Given the description of an element on the screen output the (x, y) to click on. 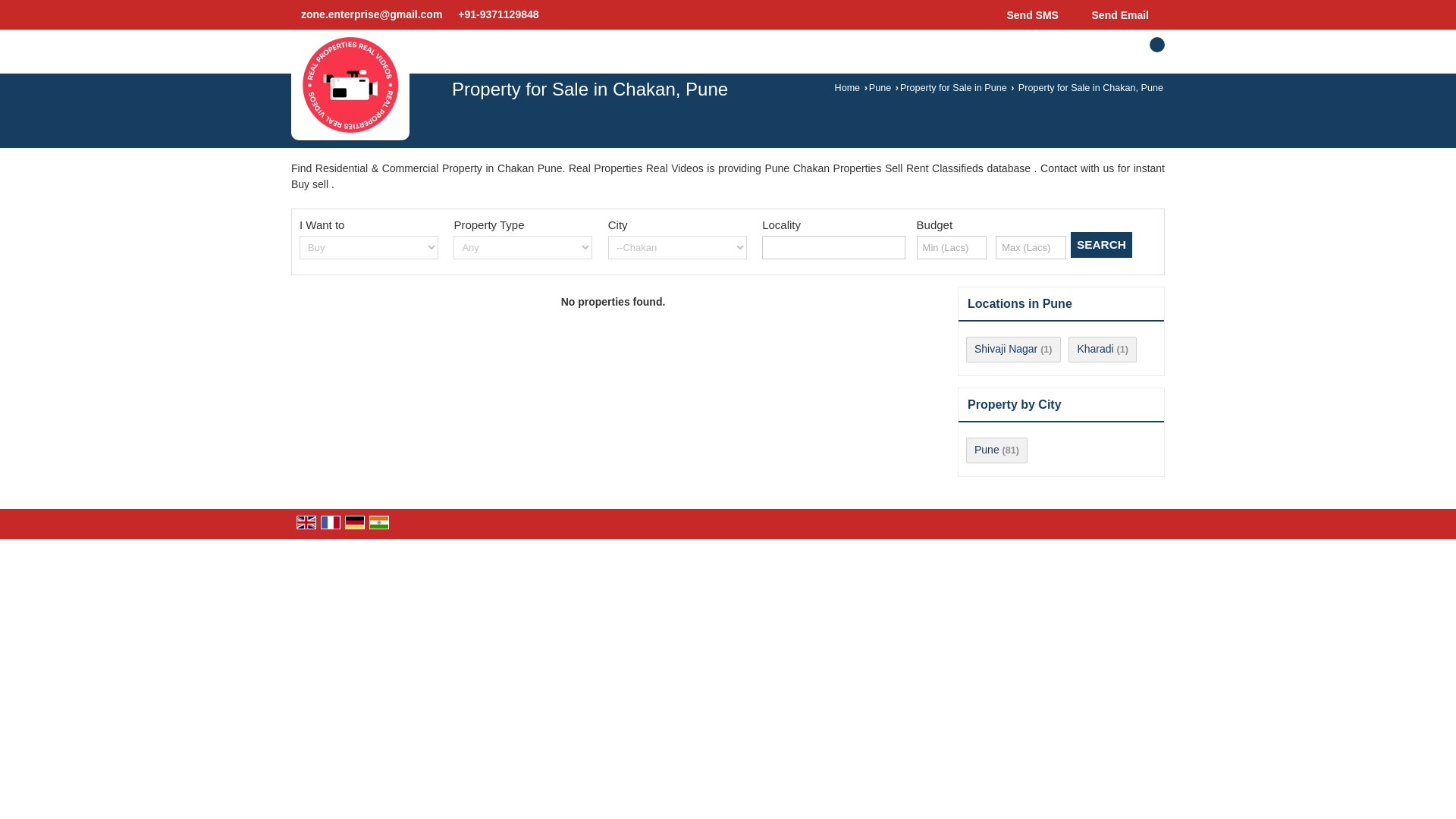
Real Properties Real Videos (349, 84)
Shivaji Nagar (1005, 348)
Home (847, 87)
SEARCH (1101, 244)
Kharadi (1095, 348)
Property for Sale in Pune (953, 87)
Send SMS (1029, 14)
Pune (986, 449)
Pune (880, 87)
Send Email (1116, 14)
